Given the description of an element on the screen output the (x, y) to click on. 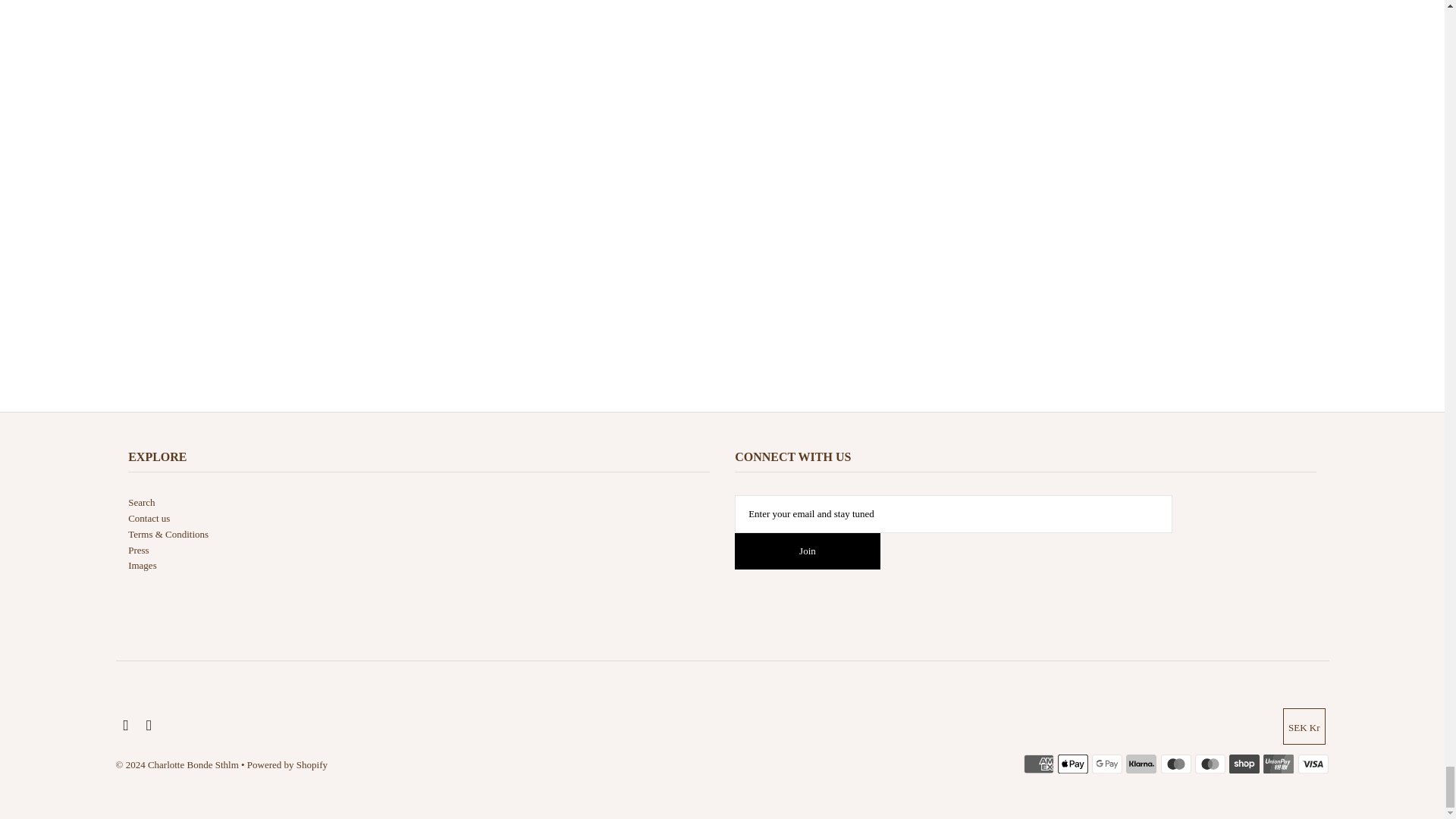
American Express (1038, 763)
Join (807, 551)
Klarna (1140, 763)
Union Pay (1278, 763)
Google Pay (1107, 763)
Apple Pay (1072, 763)
Visa (1312, 763)
Mastercard (1210, 763)
Maestro (1175, 763)
Shop Pay (1243, 763)
